Given the description of an element on the screen output the (x, y) to click on. 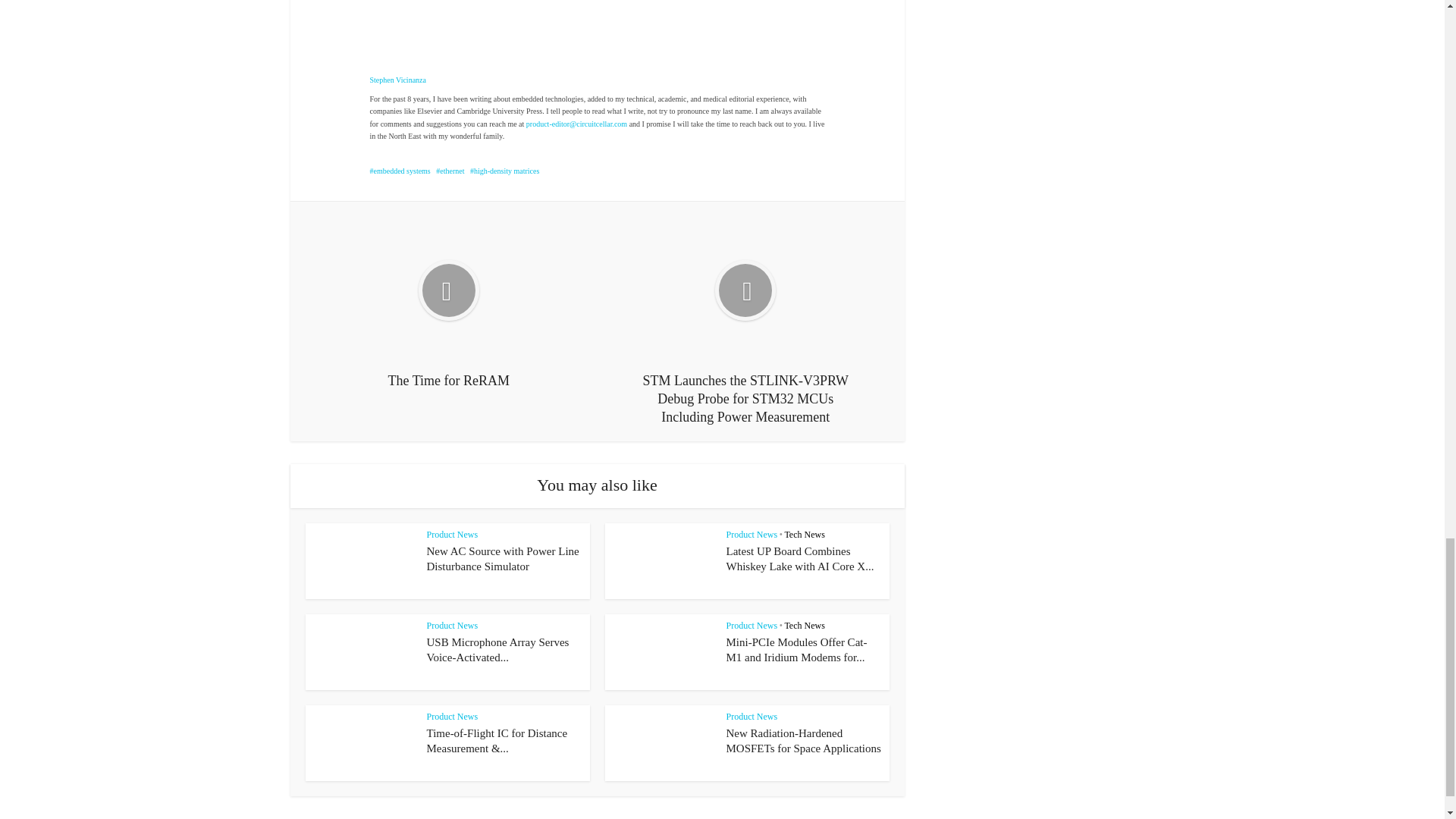
New Radiation-Hardened MOSFETs for Space Applications (803, 740)
Latest UP Board Combines Whiskey Lake with AI Core X Modules (800, 558)
New AC Source with Power Line Disturbance Simulator (502, 558)
USB Microphone Array Serves Voice-Activated Applications (497, 649)
Mini-PCIe Modules Offer Cat-M1 and Iridium Modems for IoT (796, 649)
